Given the description of an element on the screen output the (x, y) to click on. 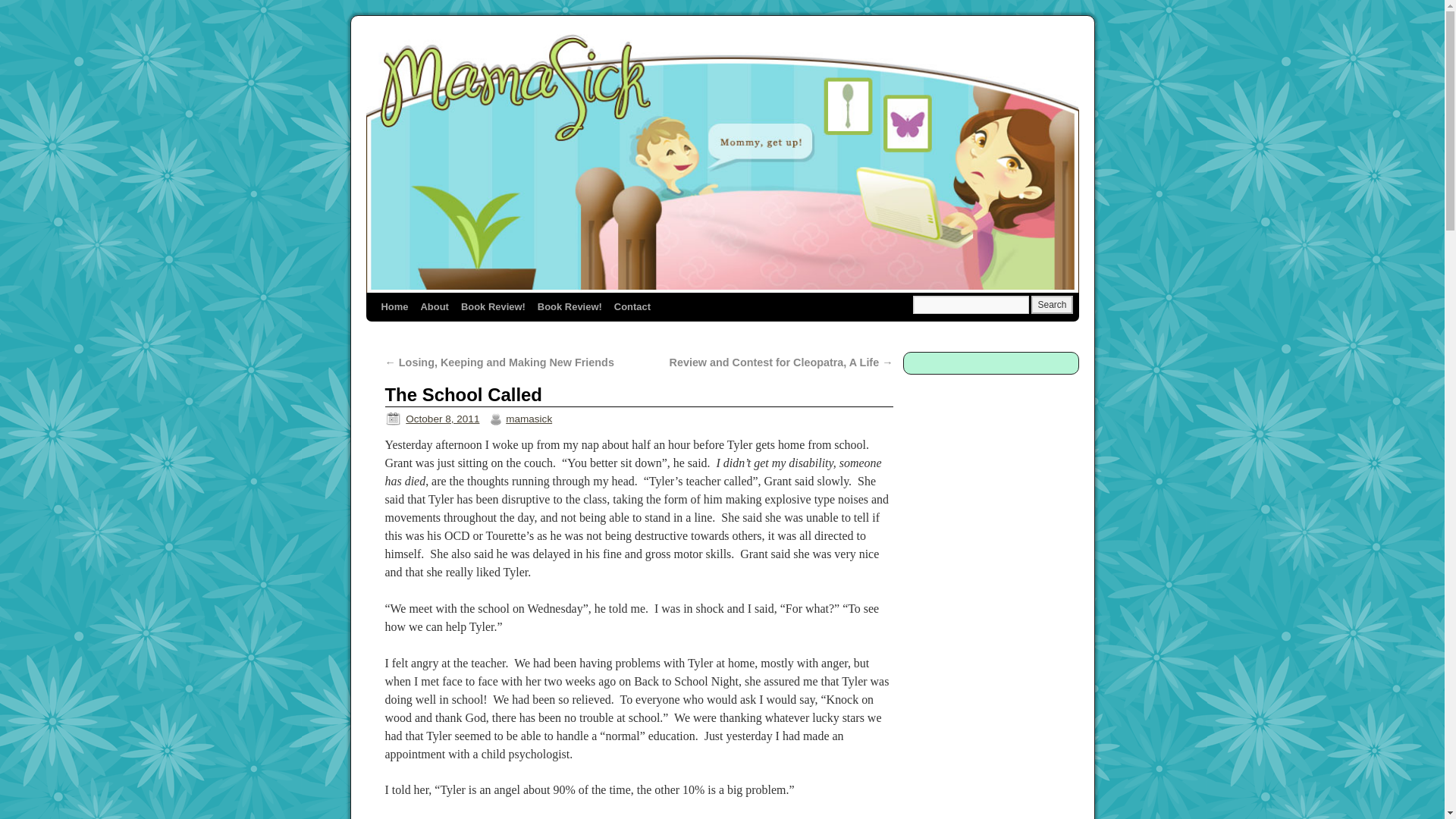
About (433, 306)
The School Called (464, 394)
Search (1050, 304)
Search (1050, 304)
October 8, 2011 (442, 419)
Book Review! (569, 306)
Permalink to The School Called (464, 394)
Contact (632, 306)
Book Review! (492, 306)
